Given the description of an element on the screen output the (x, y) to click on. 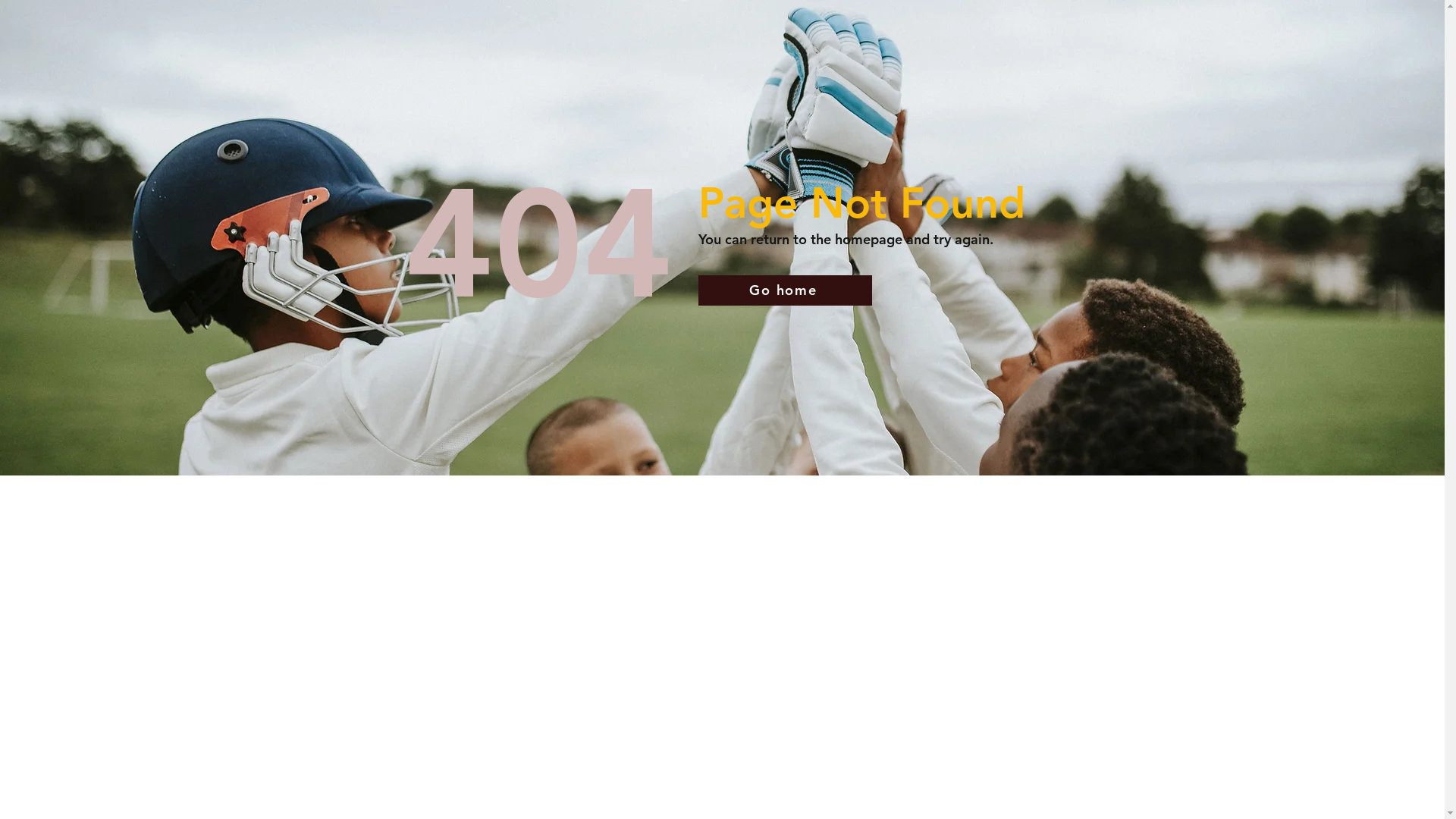
Go home Element type: text (784, 290)
